Given the description of an element on the screen output the (x, y) to click on. 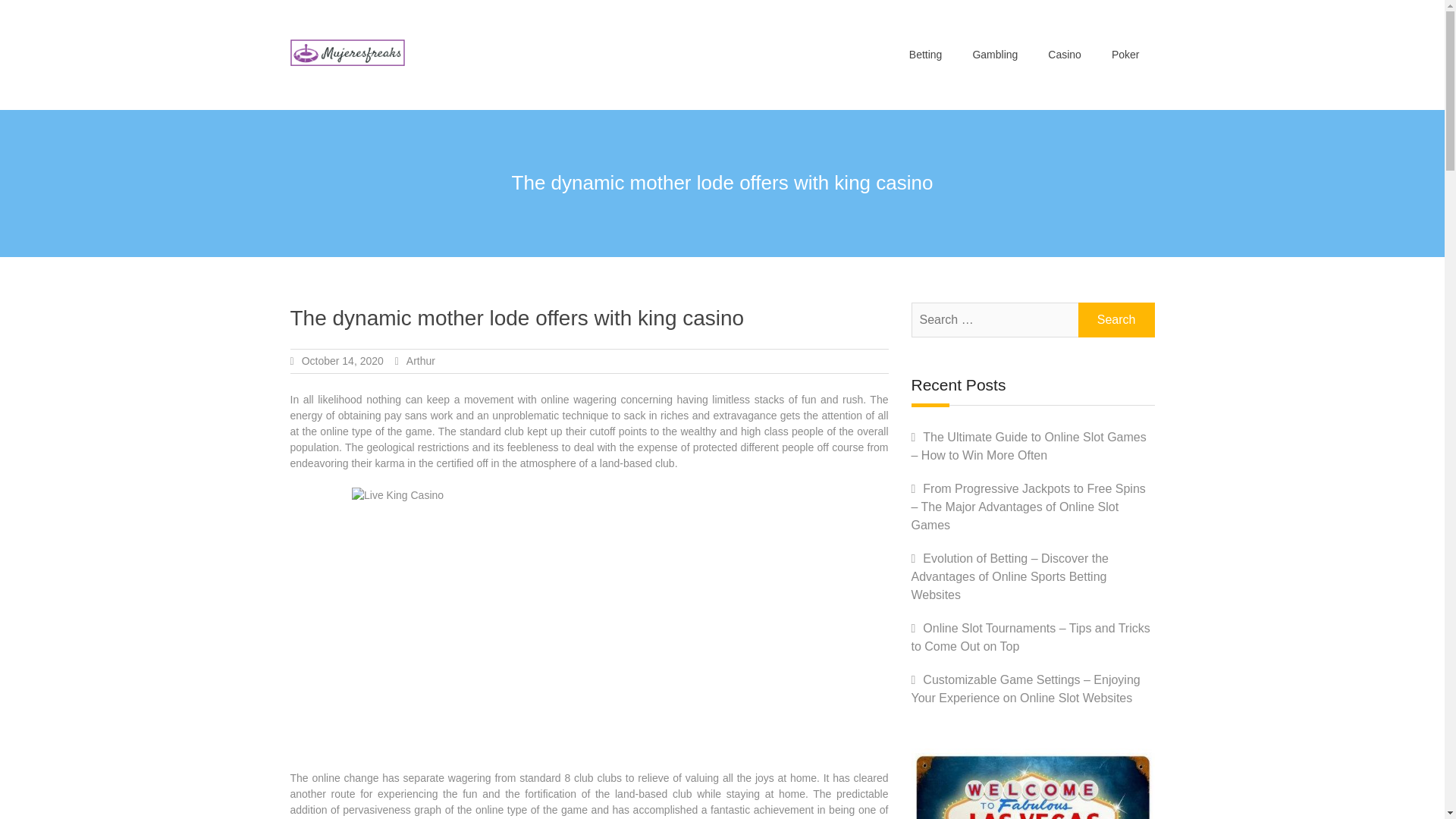
Arthur (420, 360)
Search (1116, 319)
Betting (925, 55)
Search (1116, 319)
Search (1116, 319)
Poker (1125, 55)
Casino (1064, 55)
October 14, 2020 (342, 360)
Gambling (994, 55)
